Given the description of an element on the screen output the (x, y) to click on. 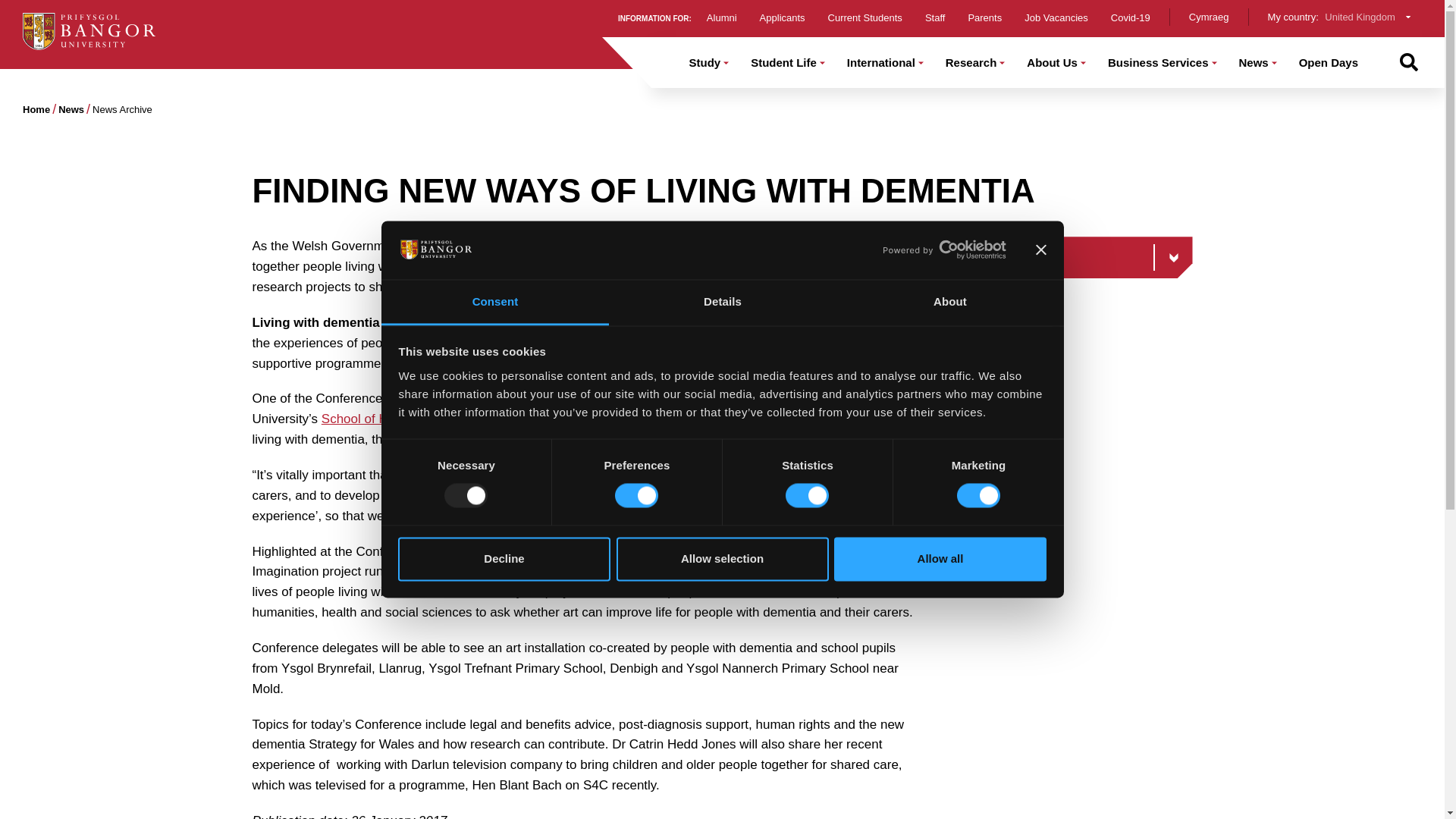
Consent (494, 302)
Details (721, 302)
About (948, 302)
